Given the description of an element on the screen output the (x, y) to click on. 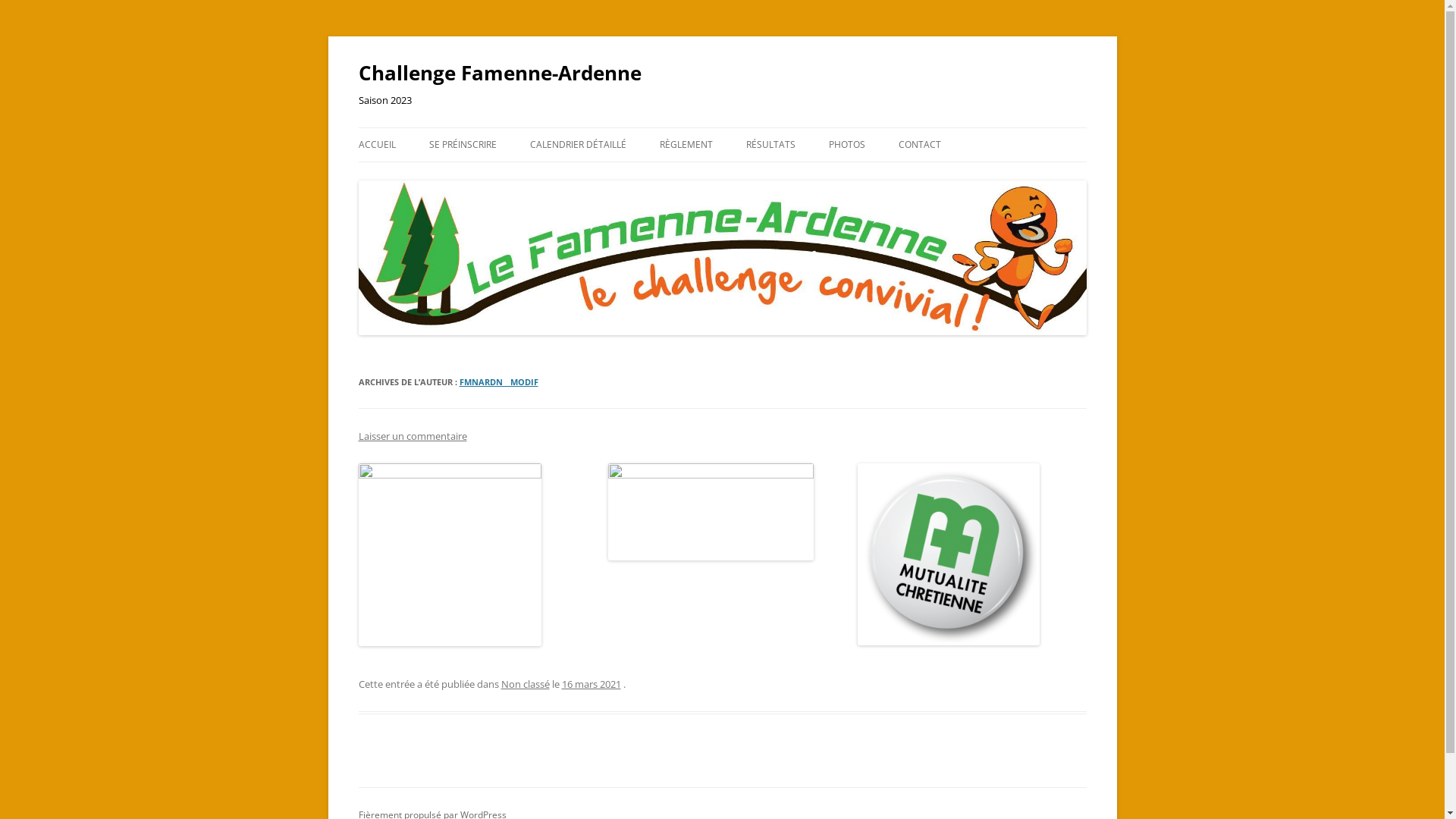
16 mars 2021 Element type: text (590, 683)
Aller au contenu Element type: text (721, 127)
CONTACT Element type: text (918, 144)
Laisser un commentaire Element type: text (411, 435)
ACCUEIL Element type: text (376, 144)
Challenge Famenne-Ardenne Element type: text (498, 72)
PHOTOS Element type: text (846, 144)
FMNARDN__MODIF Element type: text (498, 381)
